Given the description of an element on the screen output the (x, y) to click on. 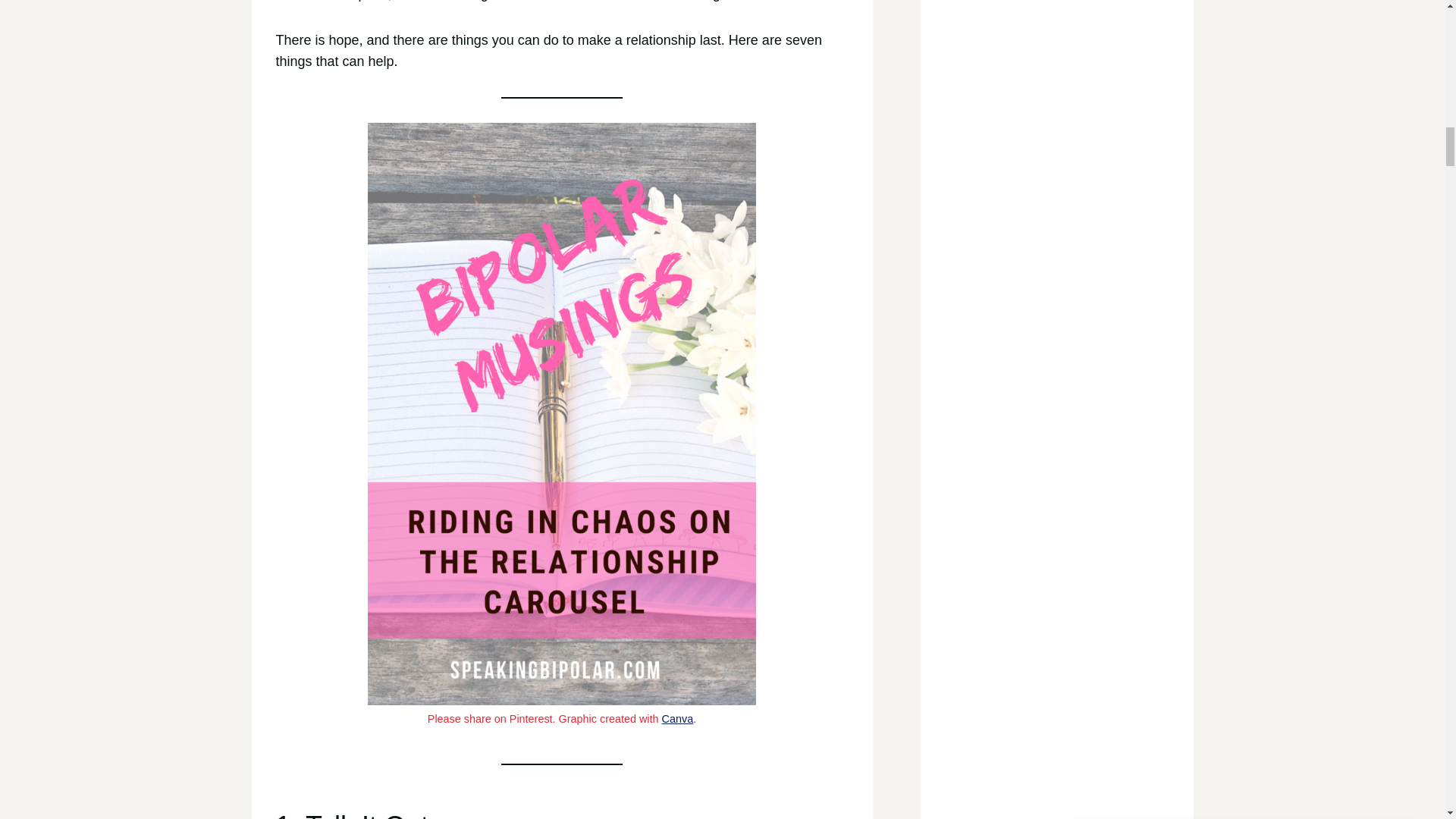
Canva (678, 718)
